Given the description of an element on the screen output the (x, y) to click on. 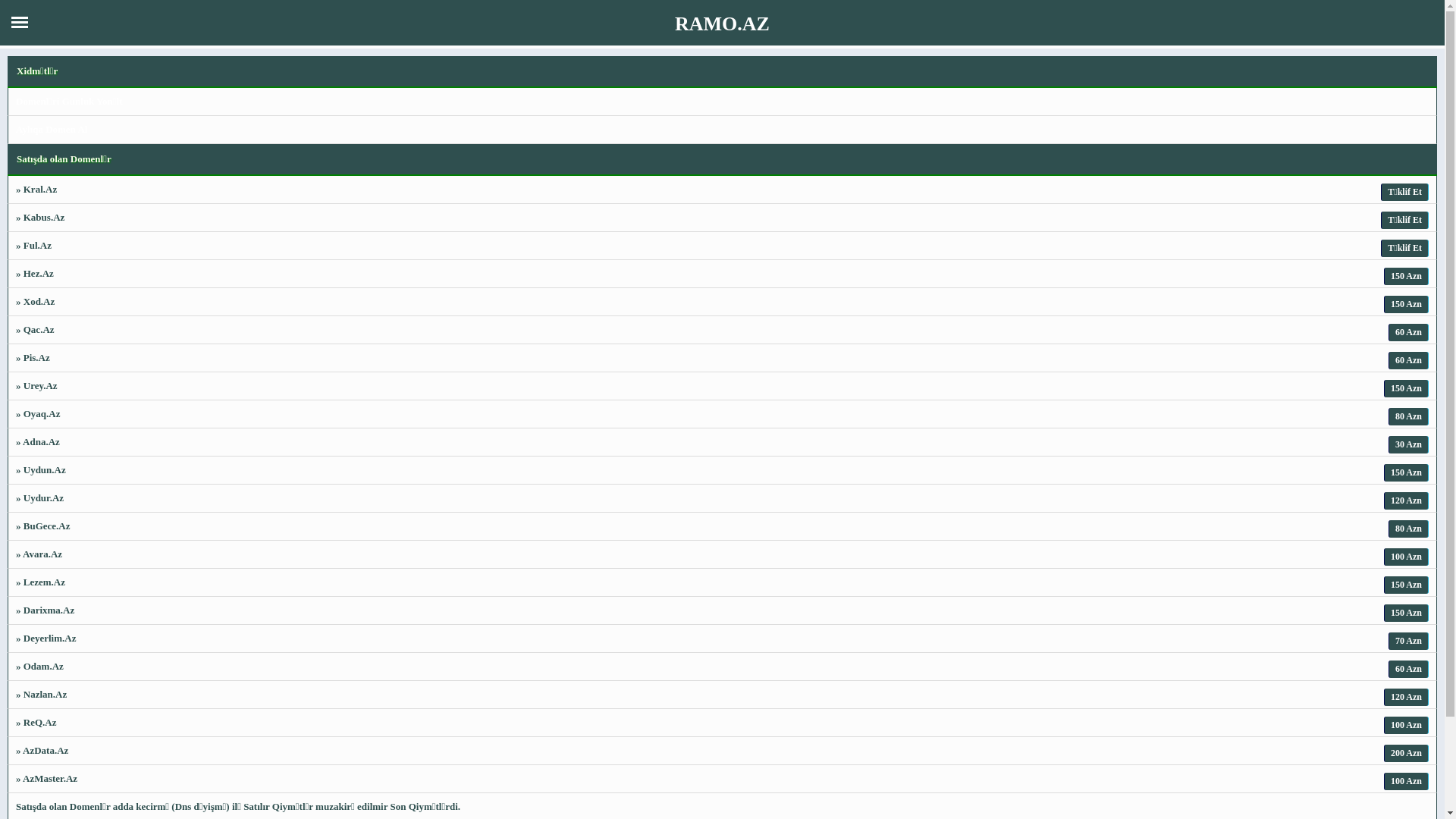
100 Azn Element type: text (1405, 556)
RAMO.AZ Element type: text (722, 35)
150 Azn Element type: text (1405, 612)
70 Azn Element type: text (1408, 640)
150 Azn Element type: text (1405, 584)
80 Azn Element type: text (1408, 416)
150 Azn Element type: text (1405, 388)
200 Azn Element type: text (1405, 753)
60 Azn Element type: text (1408, 360)
100 Azn Element type: text (1405, 781)
60 Azn Element type: text (1408, 332)
120 Azn Element type: text (1405, 500)
150 Azn Element type: text (1405, 304)
30 Azn Element type: text (1408, 444)
60 Azn Element type: text (1408, 668)
120 Azn Element type: text (1405, 697)
80 Azn Element type: text (1408, 528)
100 Azn Element type: text (1405, 725)
150 Azn Element type: text (1405, 472)
150 Azn Element type: text (1405, 276)
